Given the description of an element on the screen output the (x, y) to click on. 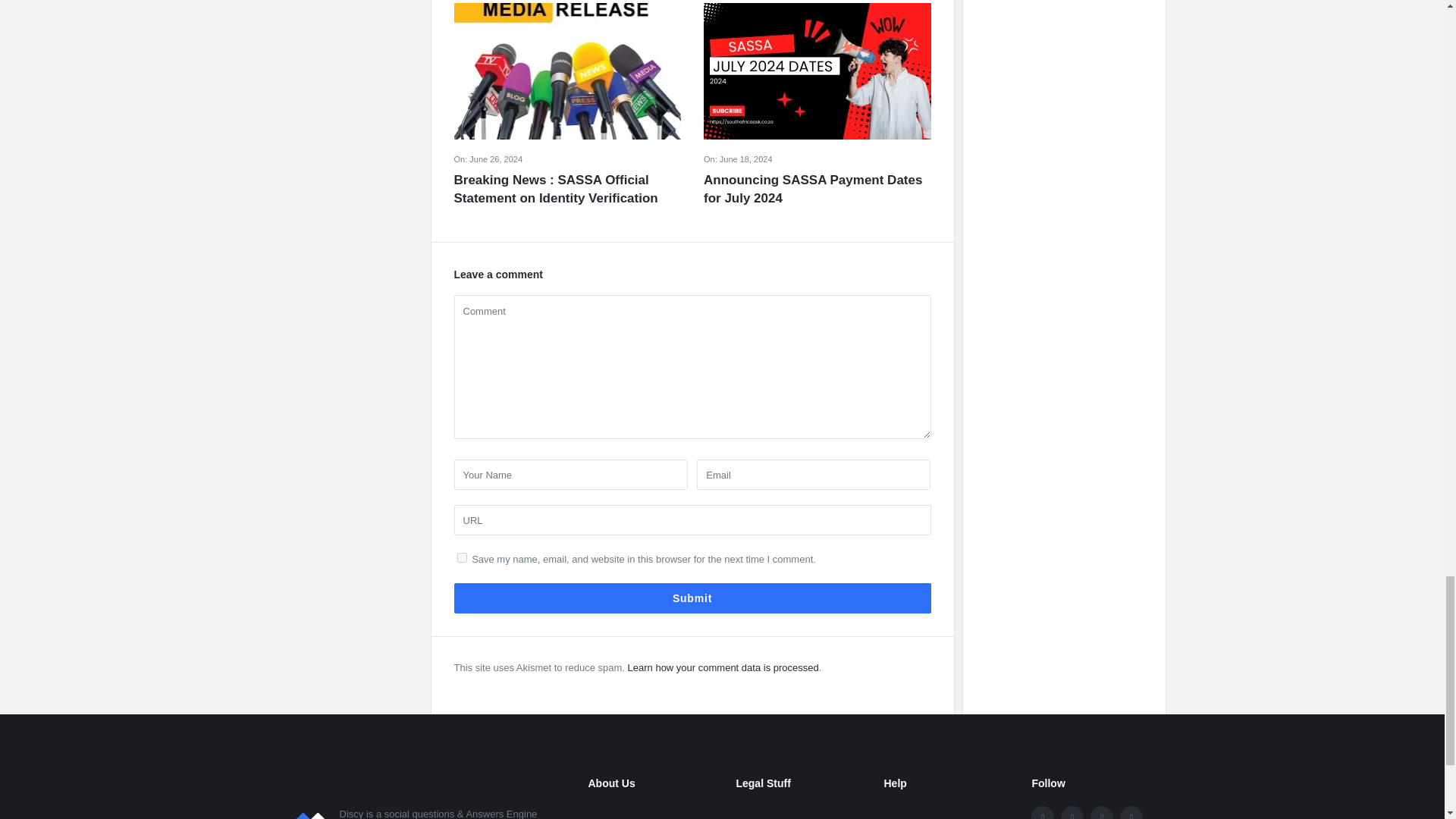
Announcing SASSA Payment Dates for July 2024 (817, 189)
yes (461, 557)
Submit (691, 598)
